Given the description of an element on the screen output the (x, y) to click on. 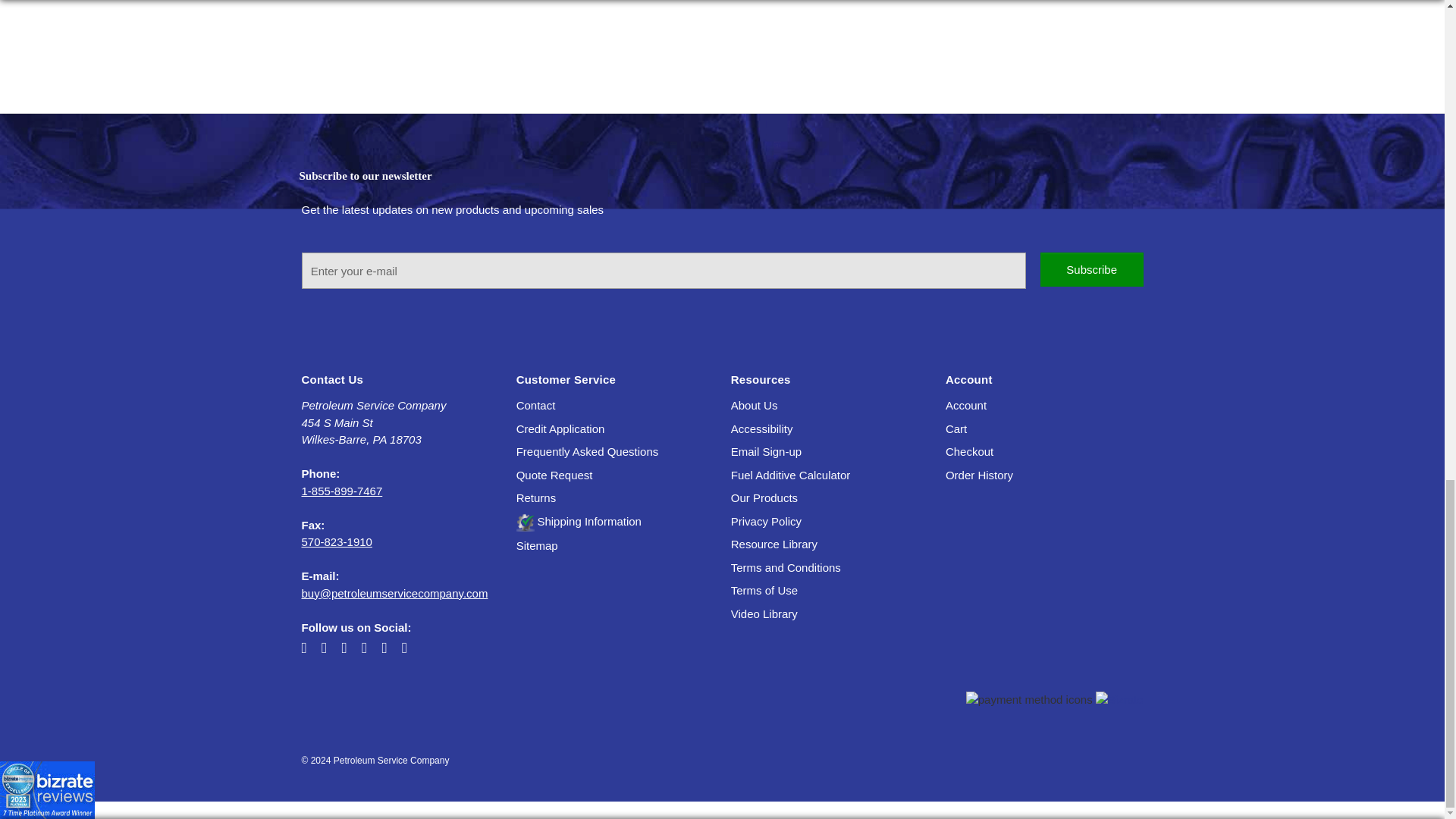
returns (536, 497)
credit application (560, 428)
See Petroleum Service Company Reviews at Bizrate.com (400, 9)
email sign-up (766, 451)
Subscribe (1091, 269)
frequently asked questions (587, 451)
about us (753, 404)
contact (536, 404)
quote request (554, 474)
shipping information (579, 521)
